Given the description of an element on the screen output the (x, y) to click on. 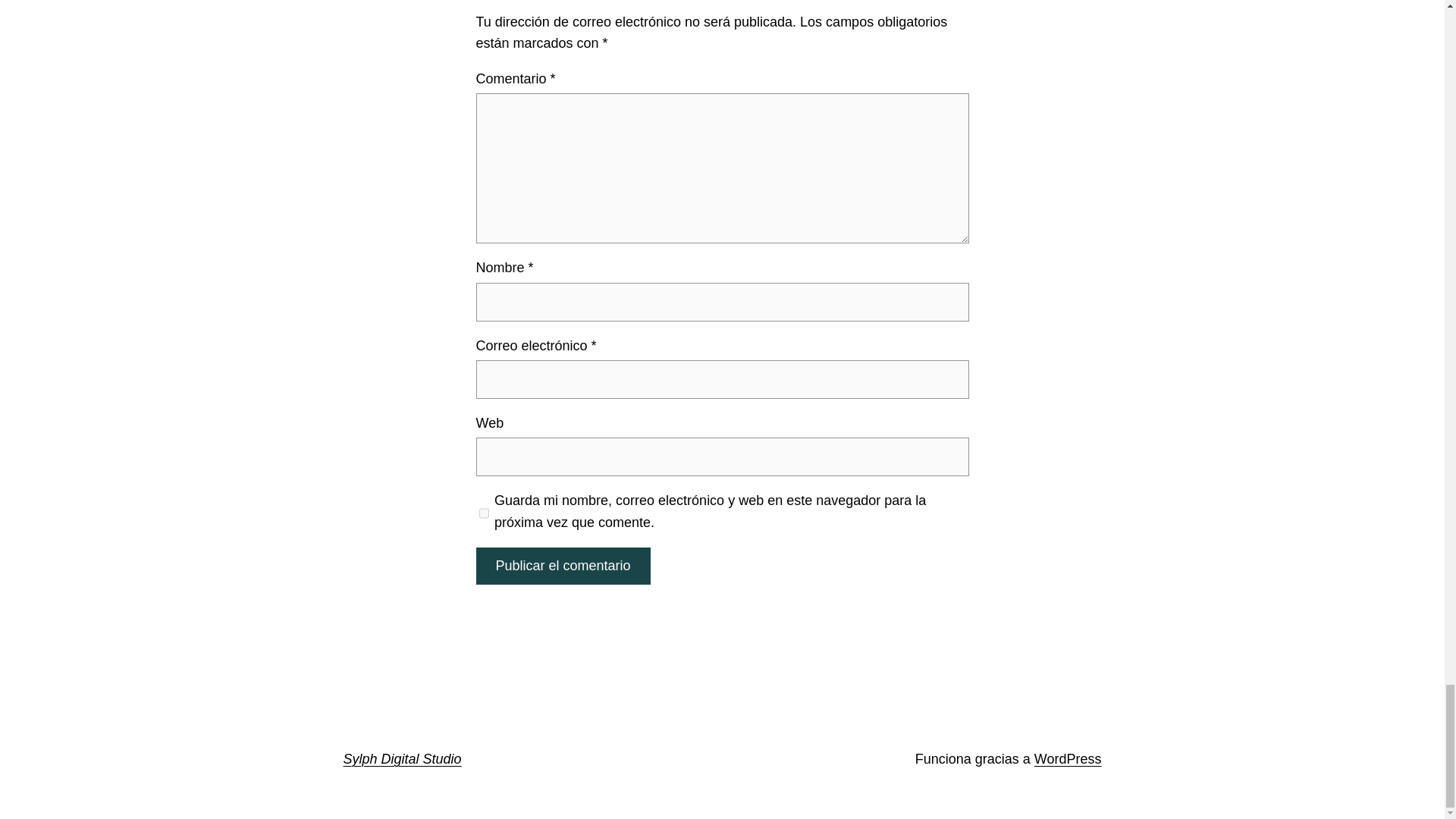
Publicar el comentario (563, 565)
